Given the description of an element on the screen output the (x, y) to click on. 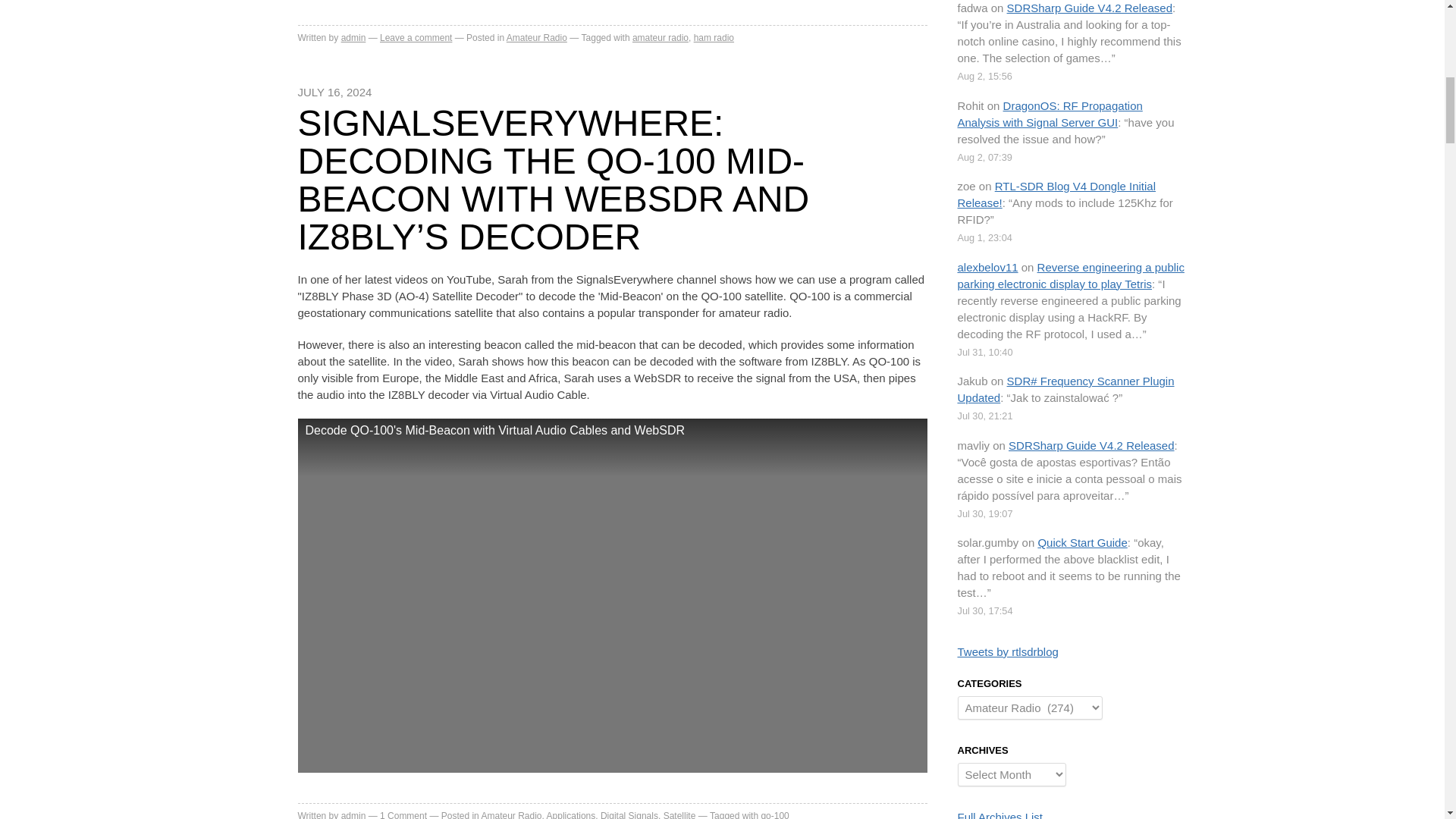
Posts by admin (353, 37)
Posts by admin (353, 814)
